Given the description of an element on the screen output the (x, y) to click on. 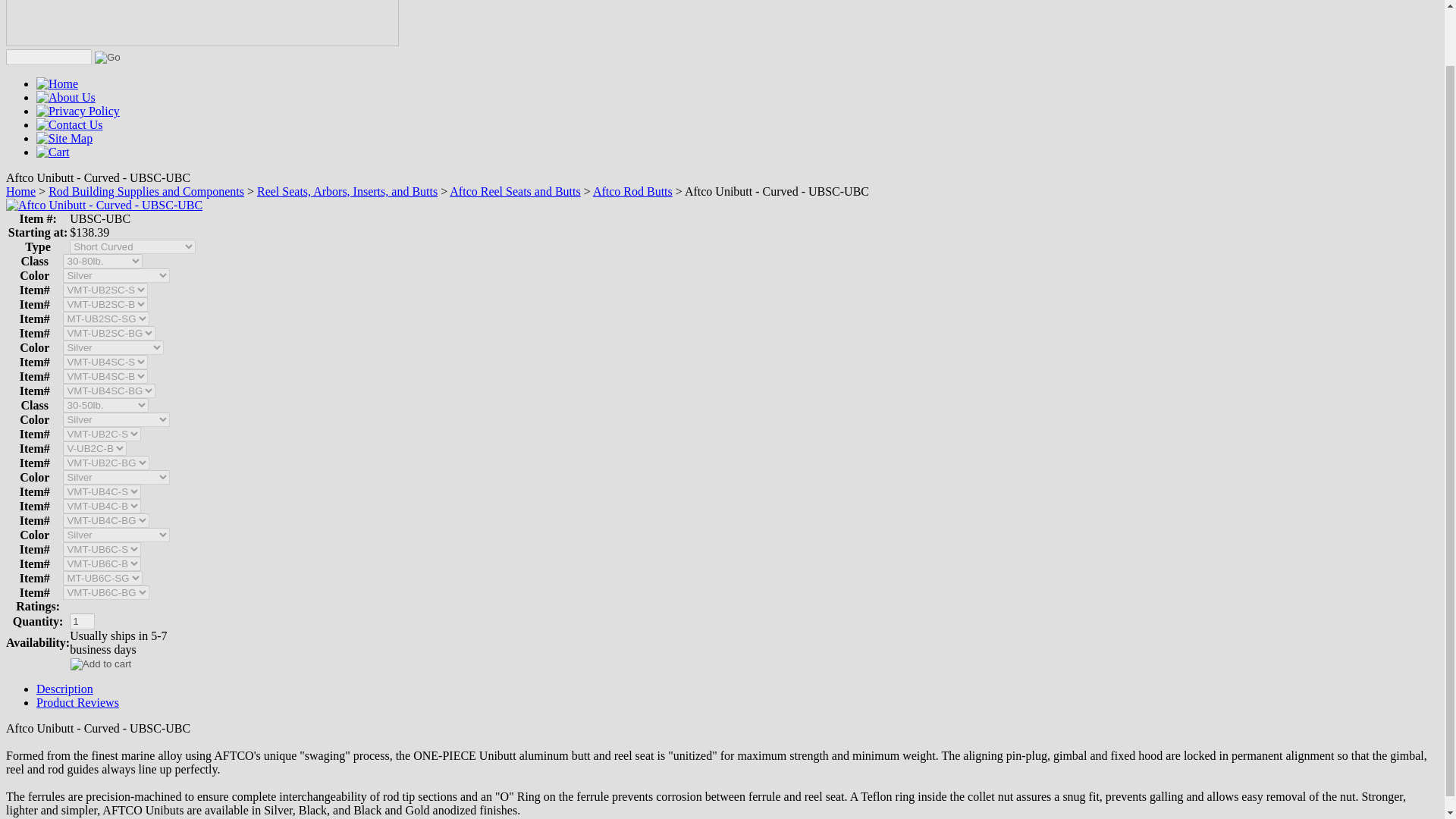
Aftco Reel Seats and Butts (514, 191)
Description (64, 688)
Rod Building Supplies and Components (146, 191)
Product Reviews (77, 702)
Aftco Rod Butts (632, 191)
Home (19, 191)
1 (81, 621)
Reel Seats, Arbors, Inserts, and Butts (347, 191)
Go (107, 57)
